Given the description of an element on the screen output the (x, y) to click on. 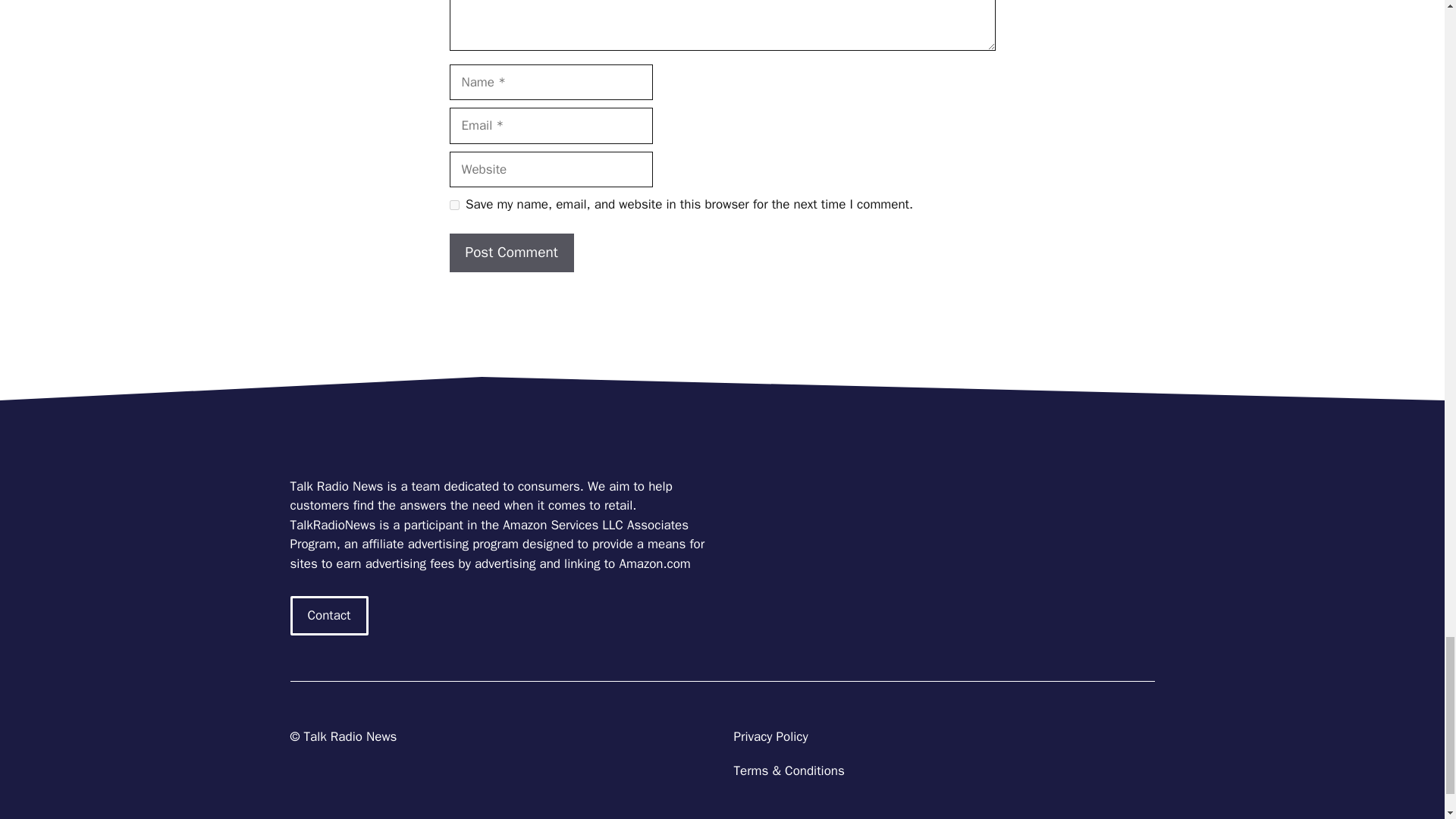
Contact (328, 615)
Post Comment (510, 252)
yes (453, 204)
Post Comment (510, 252)
Privacy Policy (770, 736)
